Given the description of an element on the screen output the (x, y) to click on. 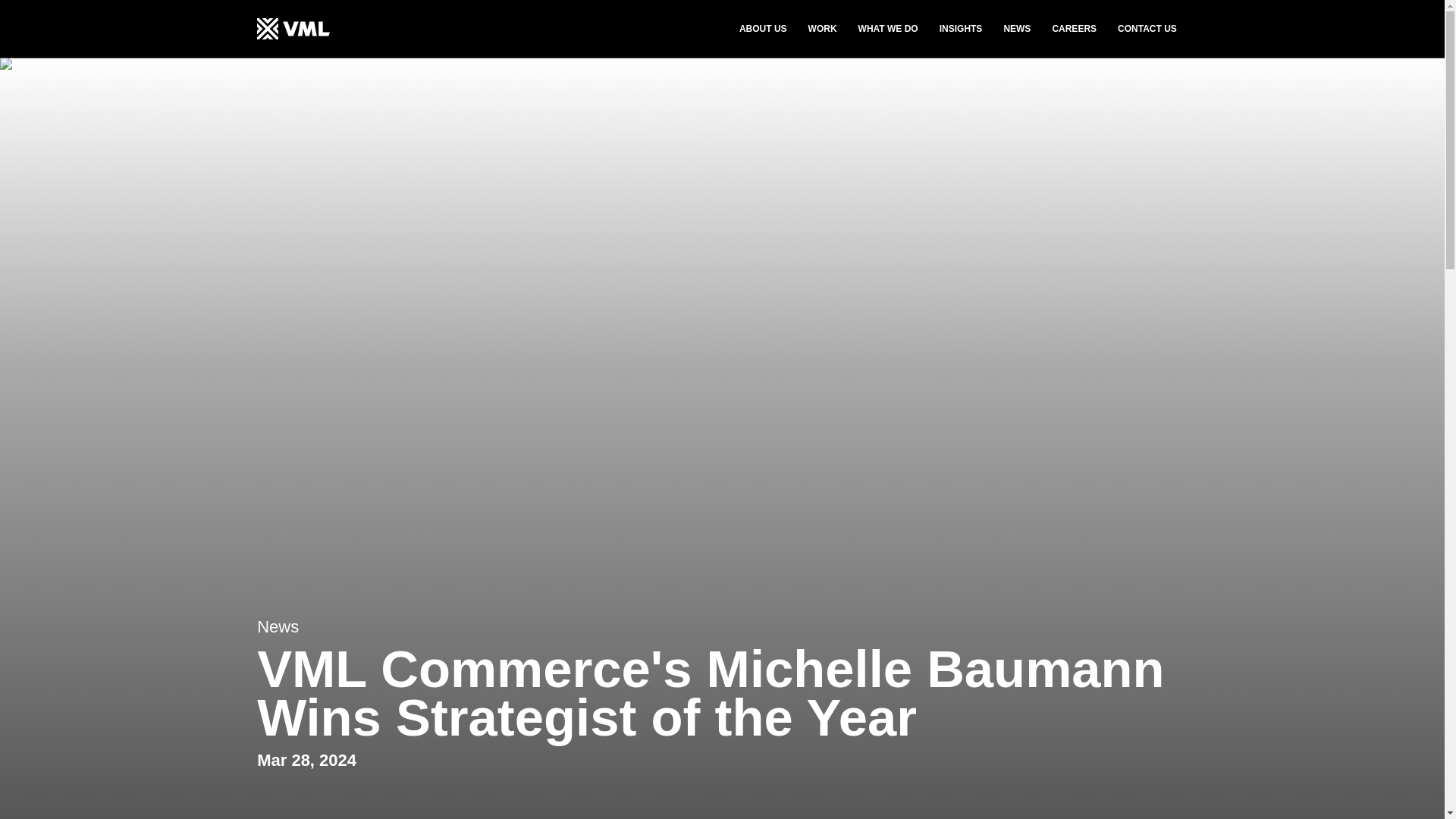
News (277, 626)
CONTACT US (1147, 29)
WHAT WE DO (888, 29)
